Given the description of an element on the screen output the (x, y) to click on. 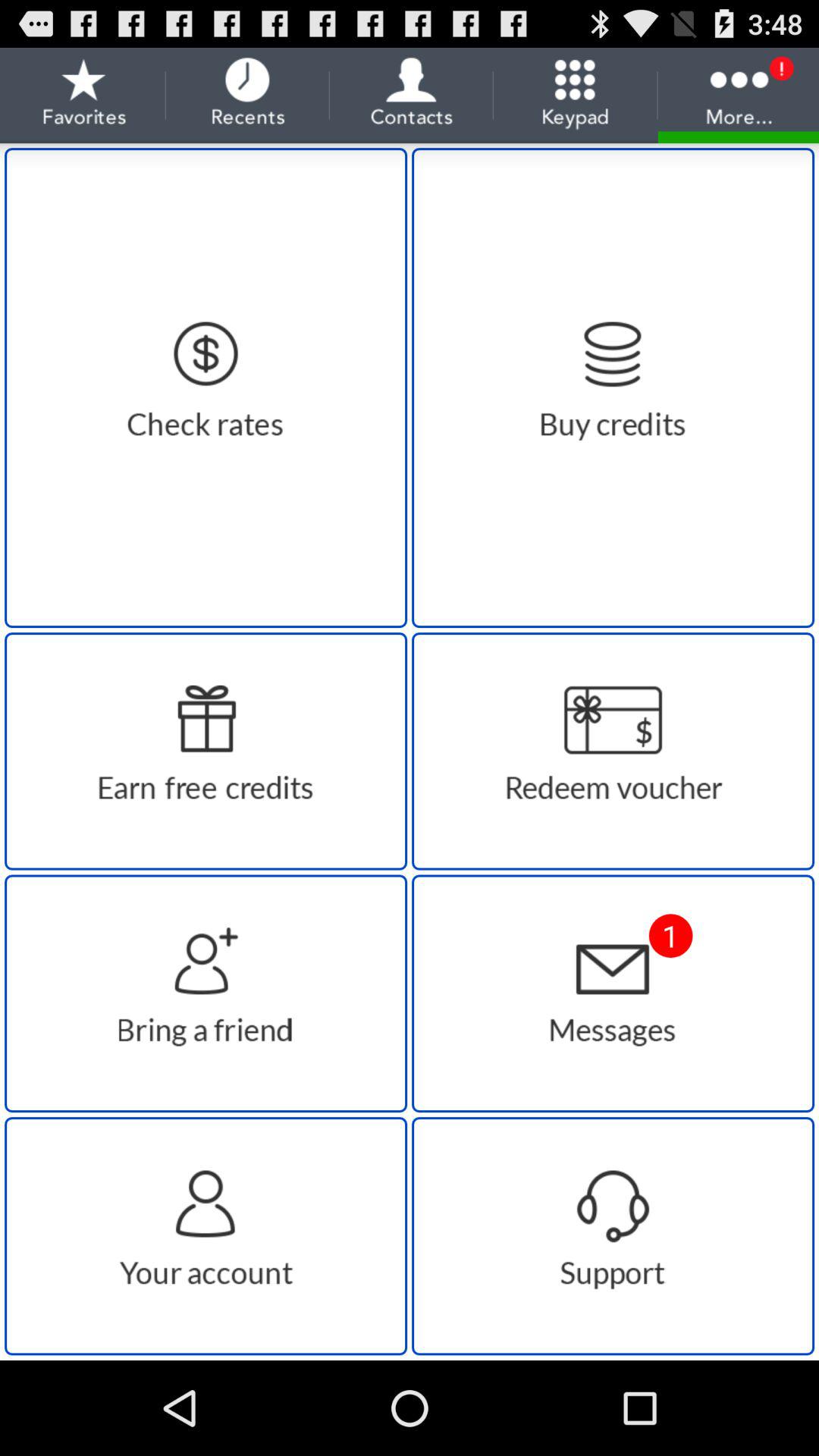
earn free credits app (205, 751)
